Given the description of an element on the screen output the (x, y) to click on. 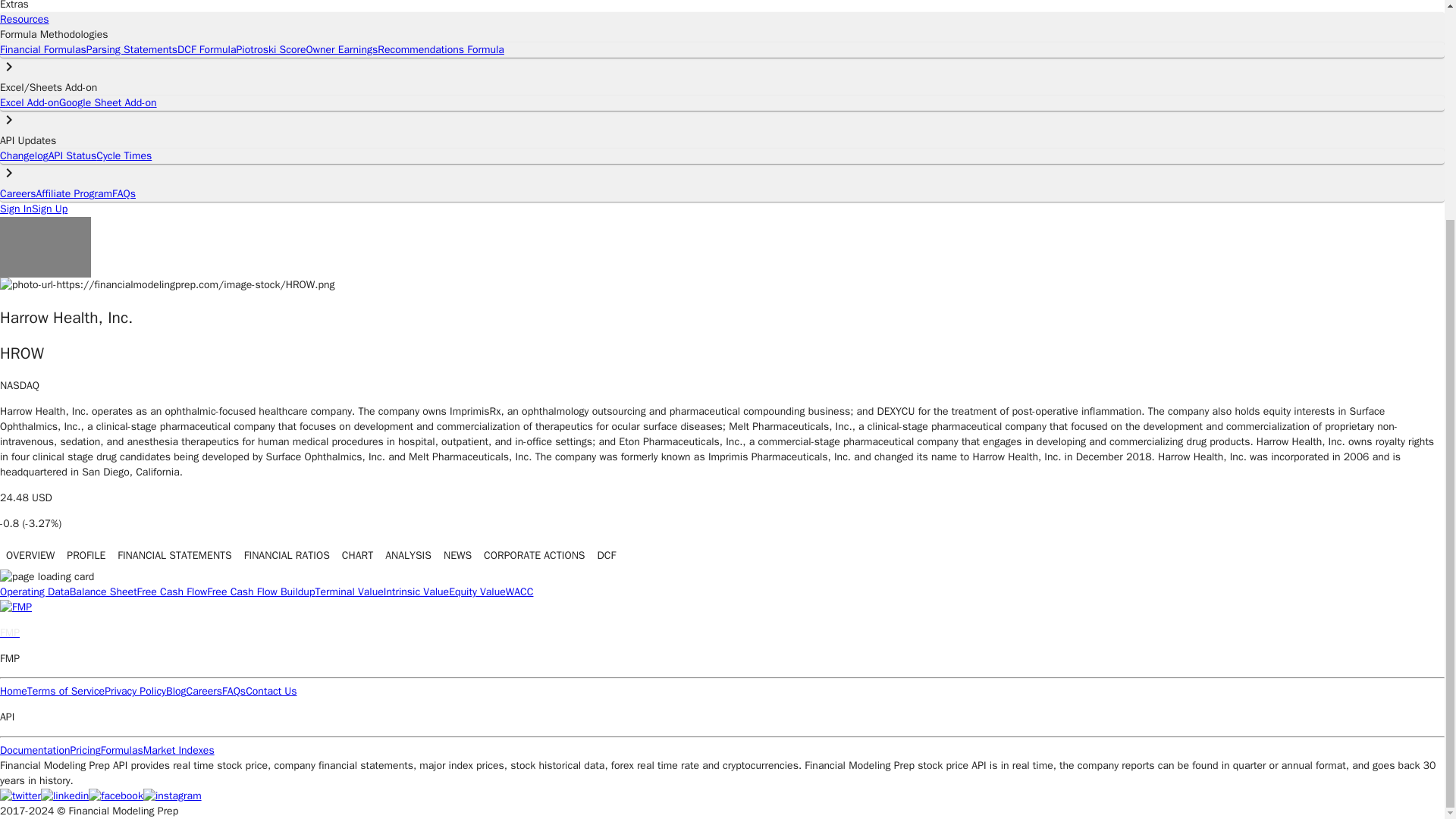
Owner Earnings (341, 49)
DCF Formula (206, 49)
Recommendations Formula (440, 49)
Cycle Times (123, 155)
Google Sheet Add-on (108, 102)
OVERVIEW (30, 556)
API Status (72, 155)
Resources (24, 19)
Affiliate Program (74, 193)
Changelog (24, 155)
Excel Add-on (29, 102)
FAQs (123, 193)
Sign In (16, 208)
Parsing Statements (131, 49)
Piotroski Score (270, 49)
